Given the description of an element on the screen output the (x, y) to click on. 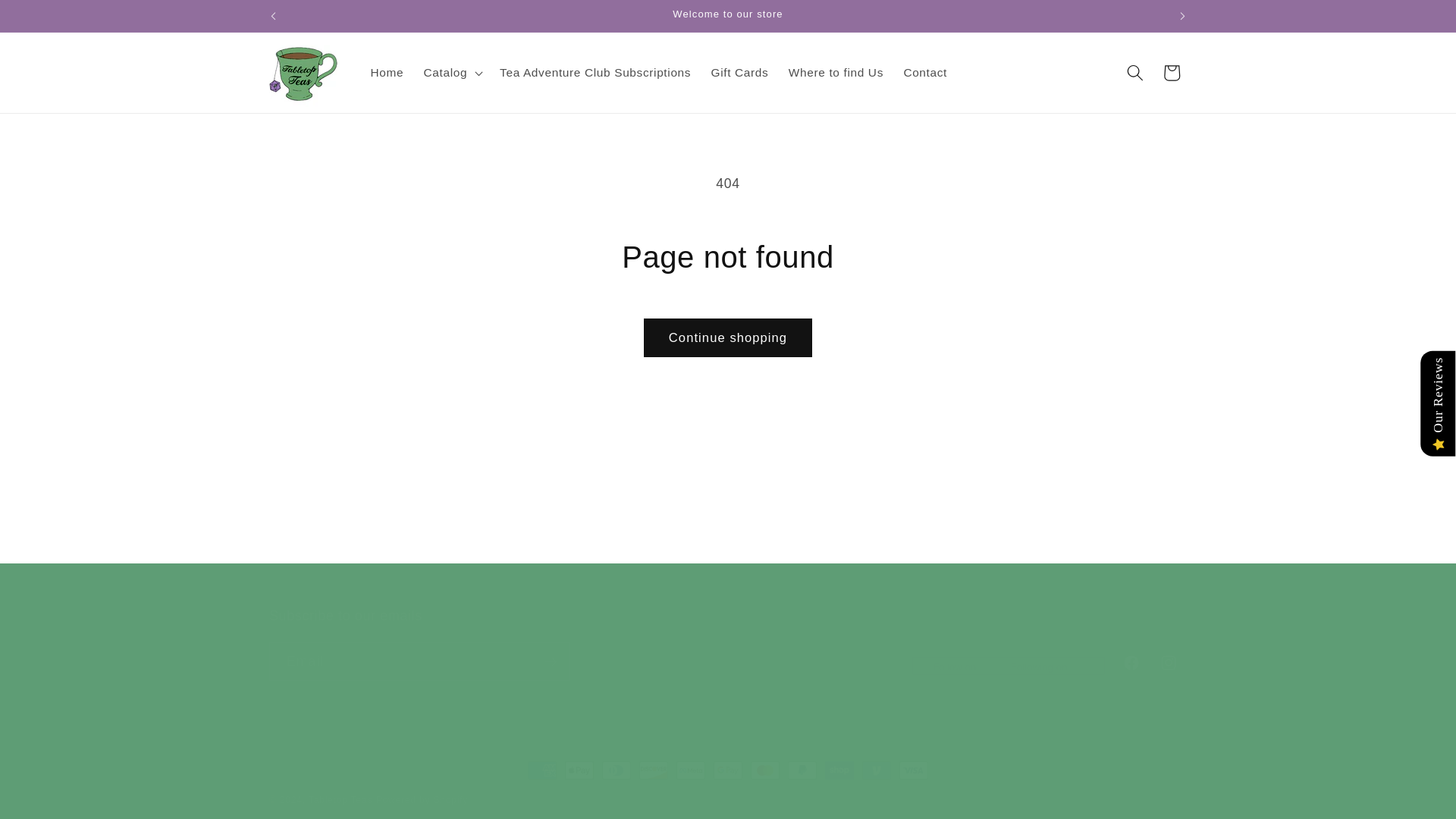
Home (727, 643)
Skip to content (386, 72)
